Given the description of an element on the screen output the (x, y) to click on. 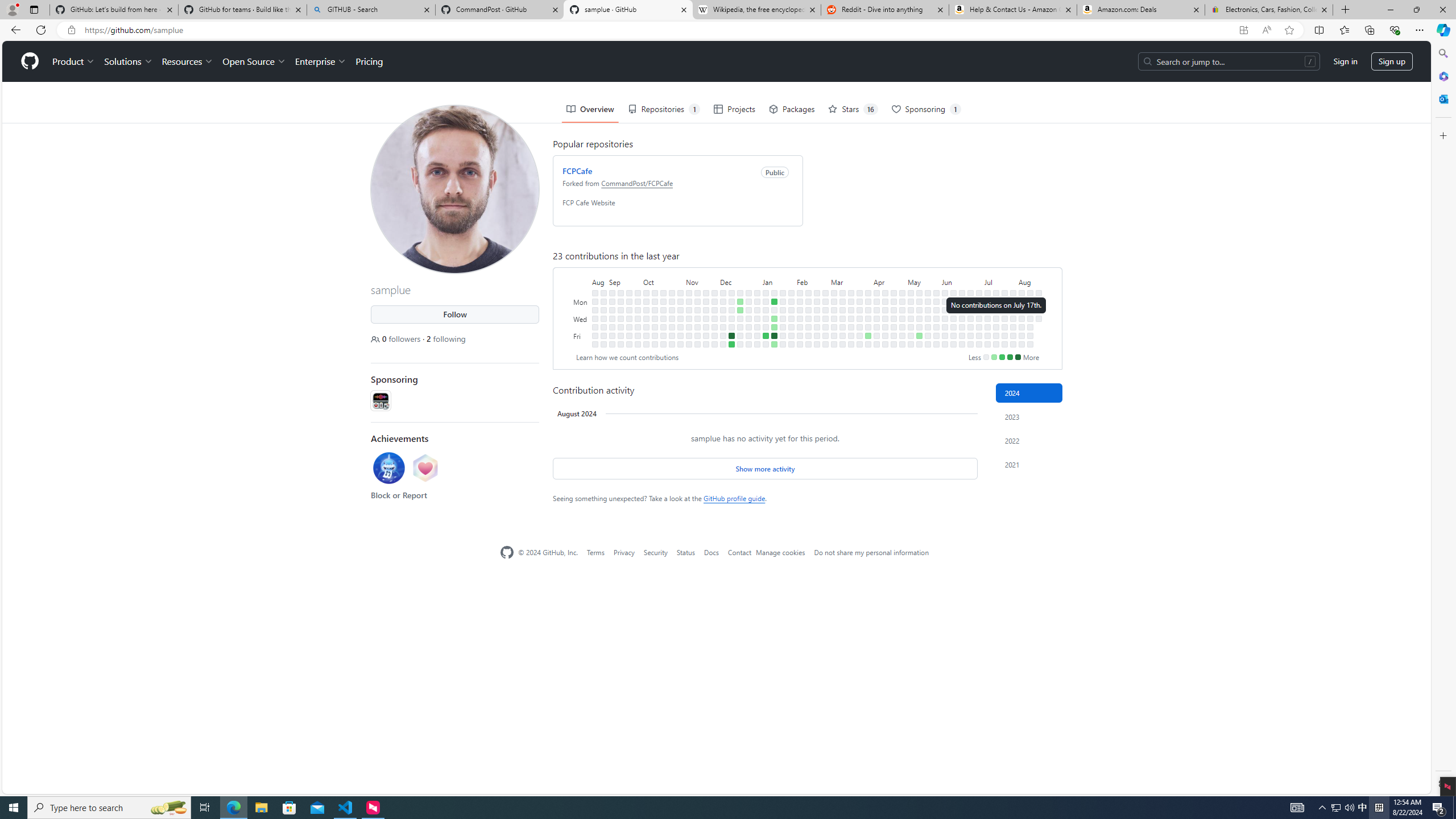
No contributions on September 14th. (620, 326)
No contributions on September 11th. (620, 301)
No contributions on May 5th. (910, 292)
No contributions on April 6th. (867, 343)
No contributions on November 19th. (706, 292)
No contributions on June 16th. (962, 292)
No contributions on January 22nd. (783, 301)
No contributions on February 23rd. (816, 335)
No contributions on April 2nd. (867, 309)
Homepage (506, 551)
No contributions on September 25th. (637, 301)
No contributions on May 7th. (910, 309)
No contributions on March 16th. (842, 343)
No contributions on August 13th. (1029, 309)
September (624, 280)
